Given the description of an element on the screen output the (x, y) to click on. 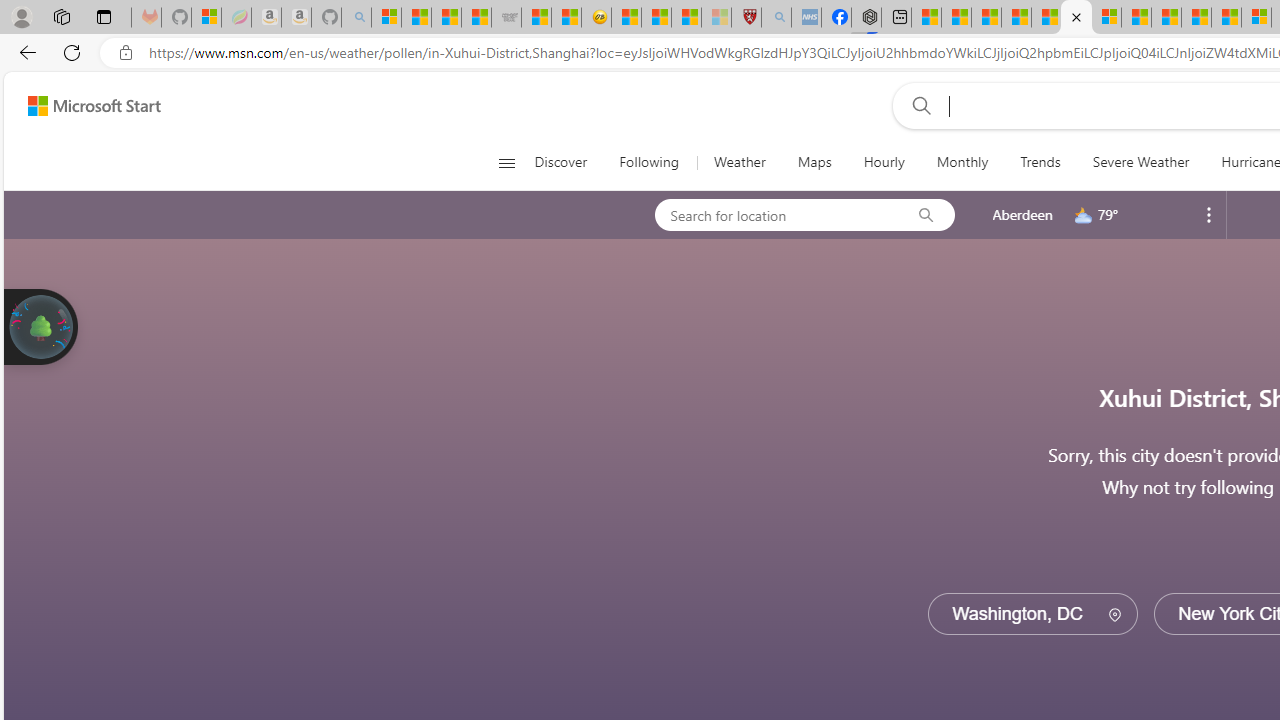
Trends (1039, 162)
Join us in planting real trees to help our planet! (40, 325)
Aberdeen (1022, 214)
Monthly (962, 162)
Severe Weather (1140, 162)
